Given the description of an element on the screen output the (x, y) to click on. 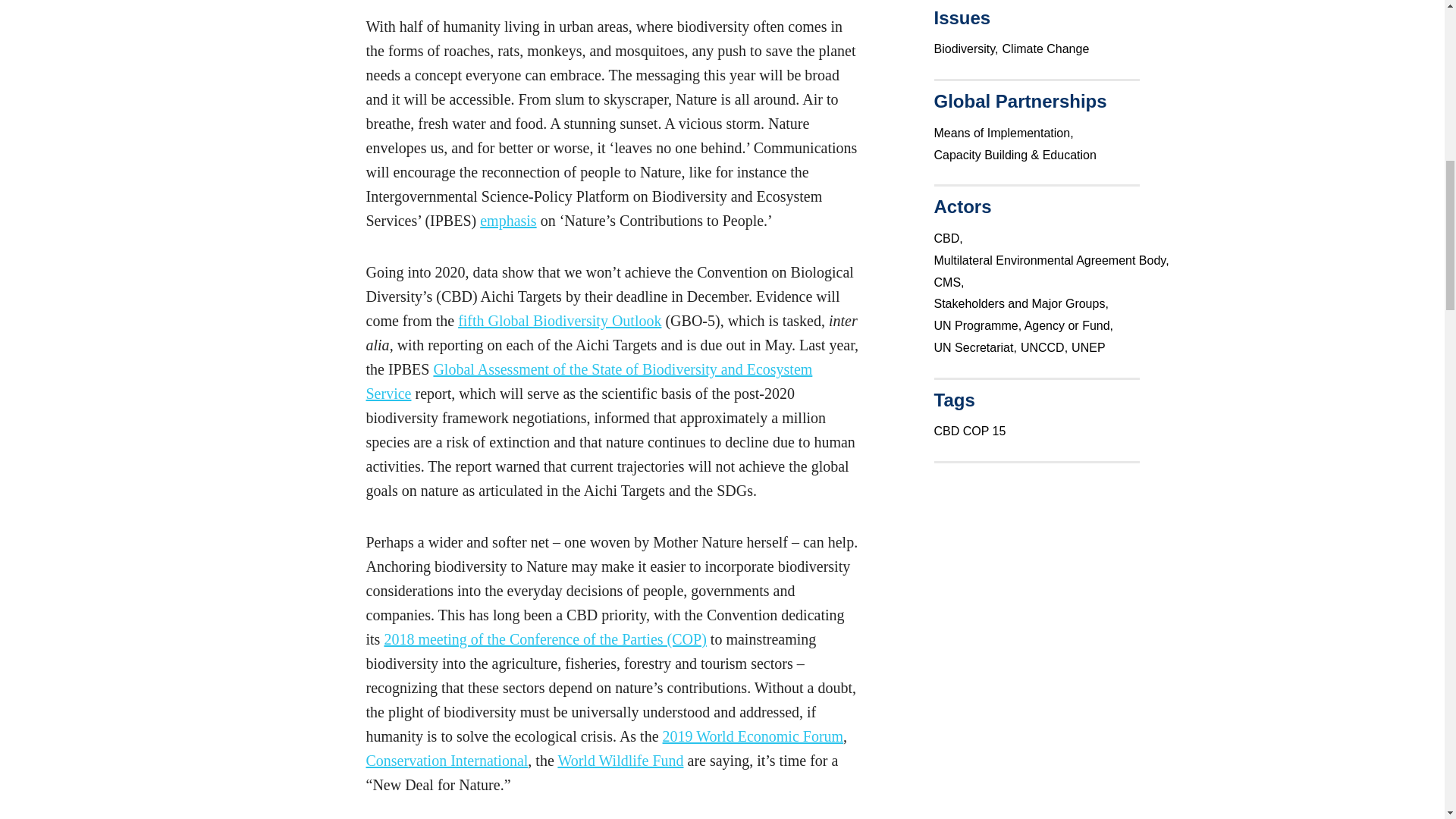
fifth Global Biodiversity Outlook (559, 320)
World Wildlife Fund (619, 760)
2019 World Economic Forum (753, 736)
emphasis (507, 220)
Conservation International (446, 760)
